Given the description of an element on the screen output the (x, y) to click on. 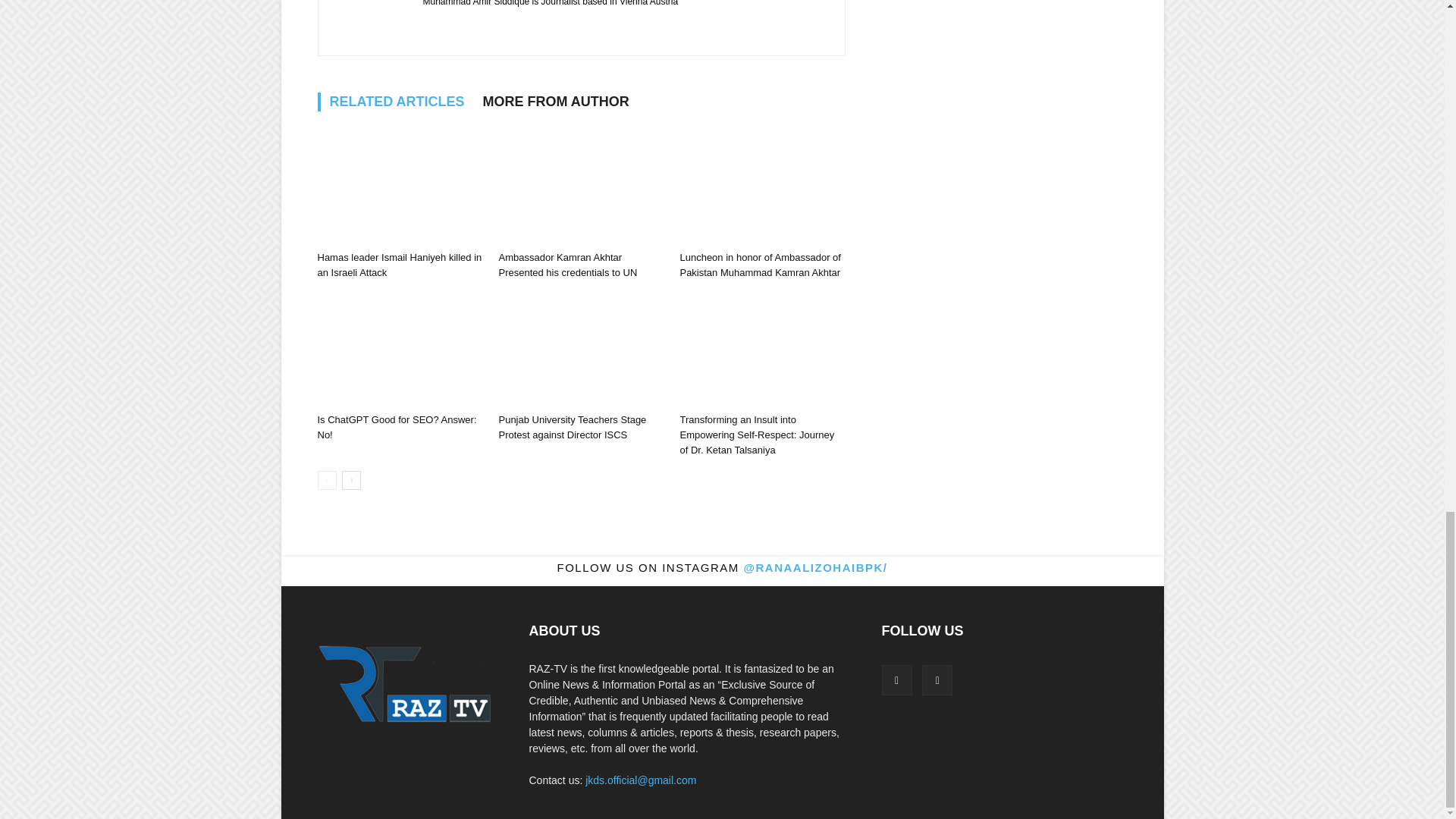
Hamas leader Ismail Haniyeh killed in an Israeli Attack (399, 187)
Ambassador Kamran Akhtar Presented his credentials to UN (580, 187)
Ambassador Kamran Akhtar Presented his credentials to UN (567, 264)
Hamas leader Ismail Haniyeh killed in an Israeli Attack (399, 264)
